Given the description of an element on the screen output the (x, y) to click on. 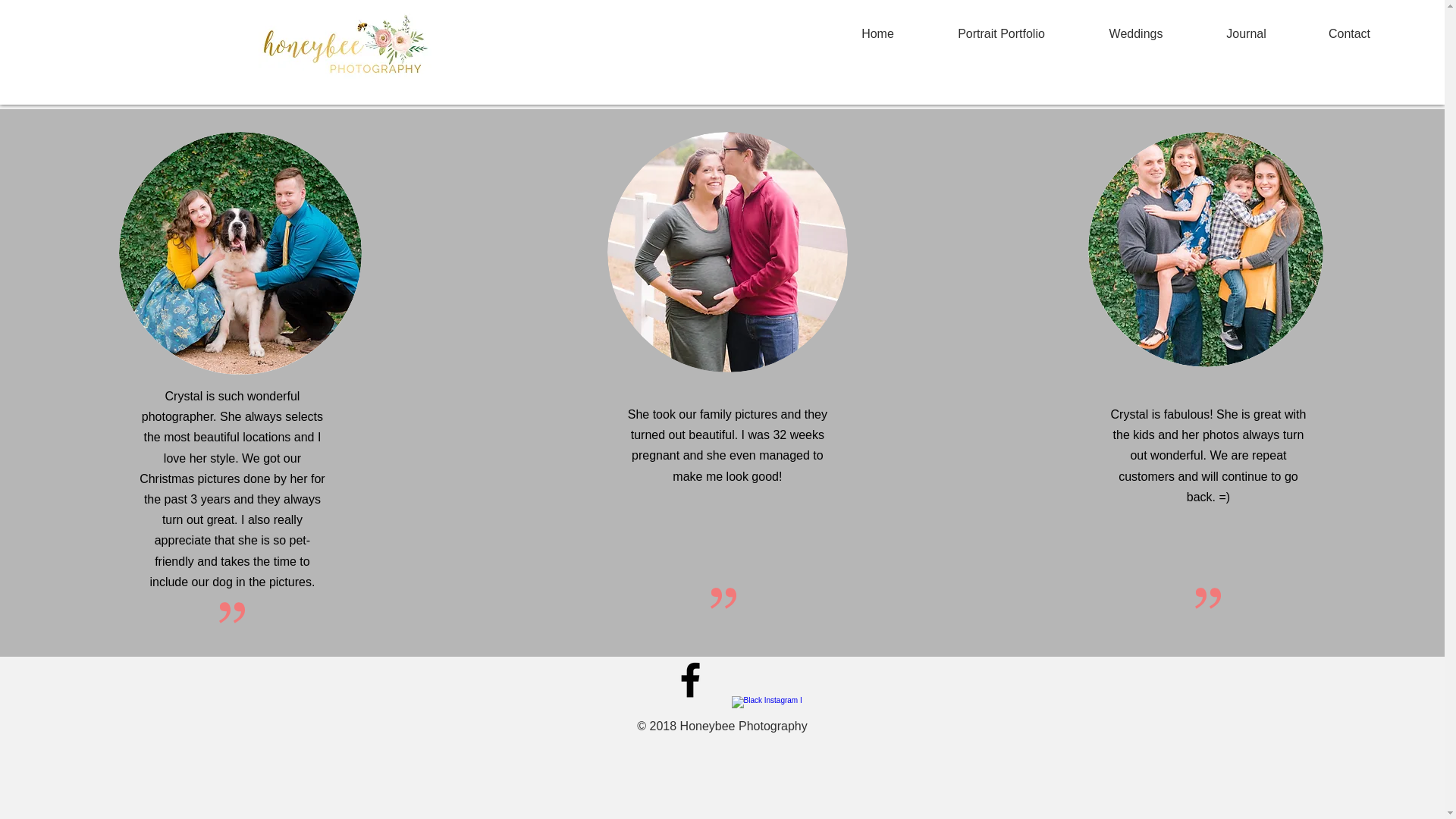
Contact (1348, 34)
GettyImages-535587703.jpg (240, 252)
Home (877, 34)
Weddings (1136, 34)
GettyImages-145680711.jpg (1205, 248)
GettyImages-124893619.jpg (727, 251)
Portrait Portfolio (1001, 34)
Journal (1246, 34)
